Given the description of an element on the screen output the (x, y) to click on. 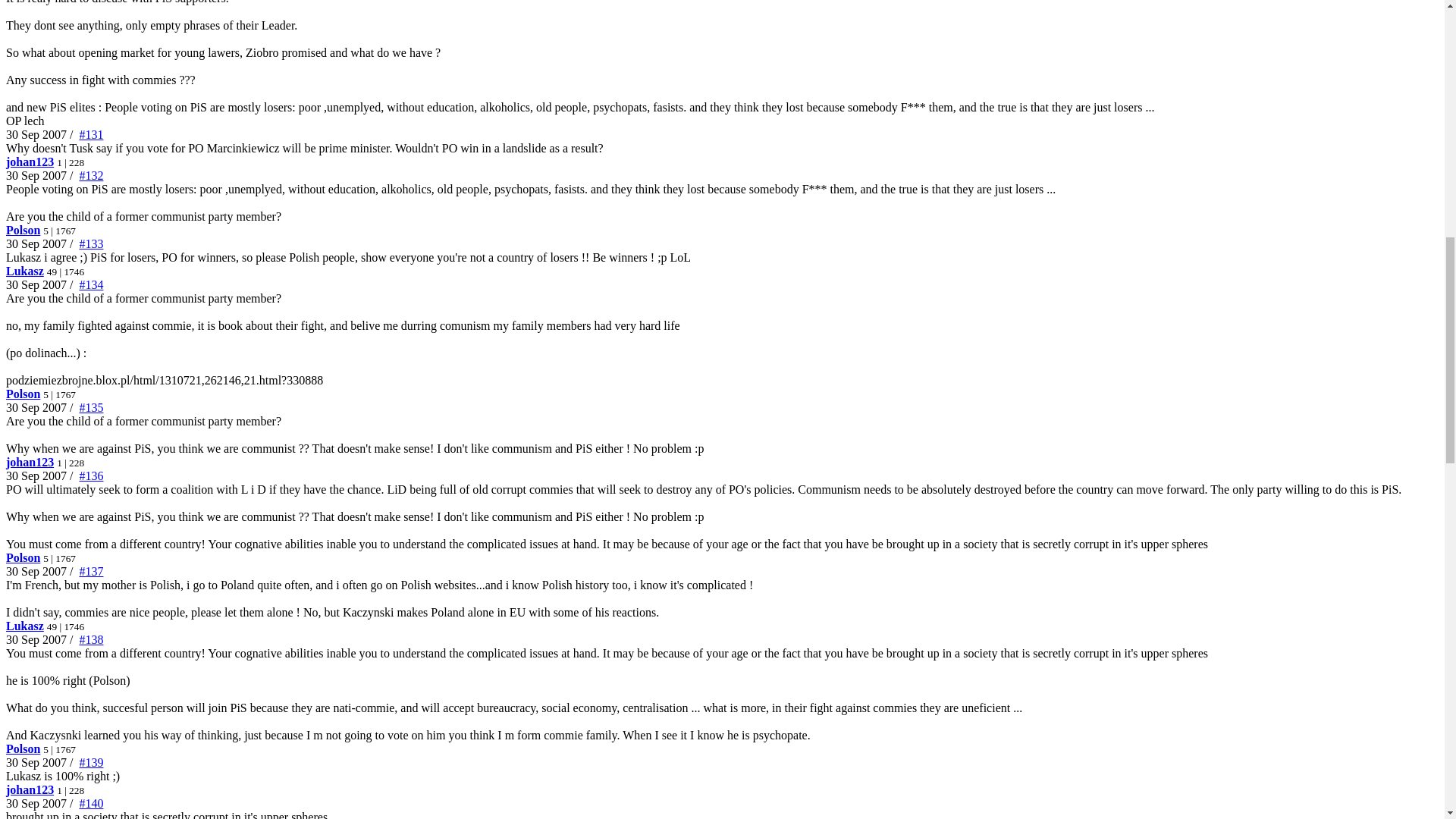
johan123 (29, 161)
Lukasz (24, 270)
Polson (22, 229)
